Given the description of an element on the screen output the (x, y) to click on. 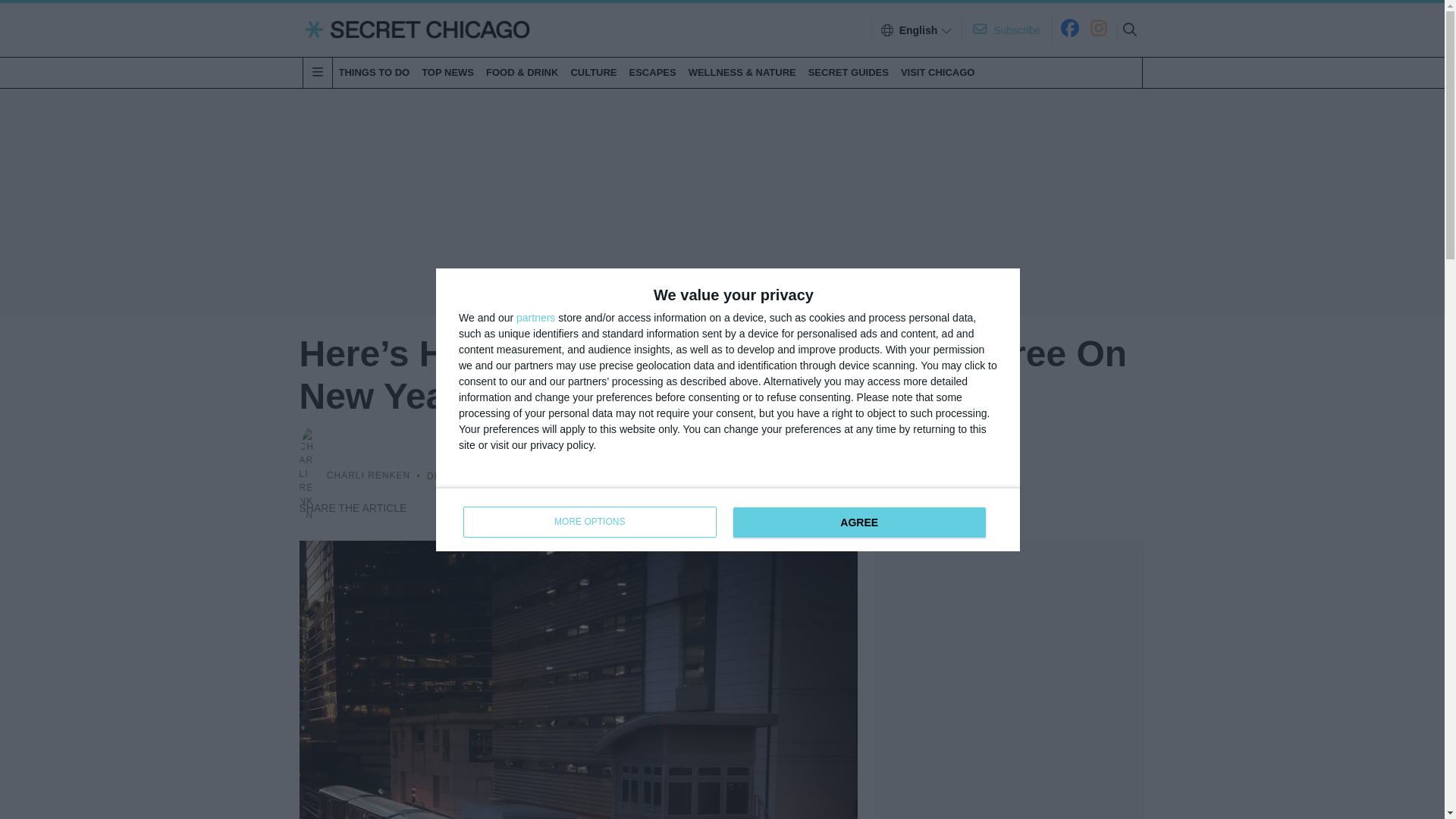
English (727, 518)
SECRET GUIDES (918, 29)
VISIT CHICAGO (848, 72)
TOP NEWS (938, 72)
ESCAPES (448, 72)
CULTURE (652, 72)
THINGS TO DO (592, 72)
AGREE (373, 72)
partners (858, 521)
MORE OPTIONS (535, 317)
CHARLI RENKEN (589, 521)
